Given the description of an element on the screen output the (x, y) to click on. 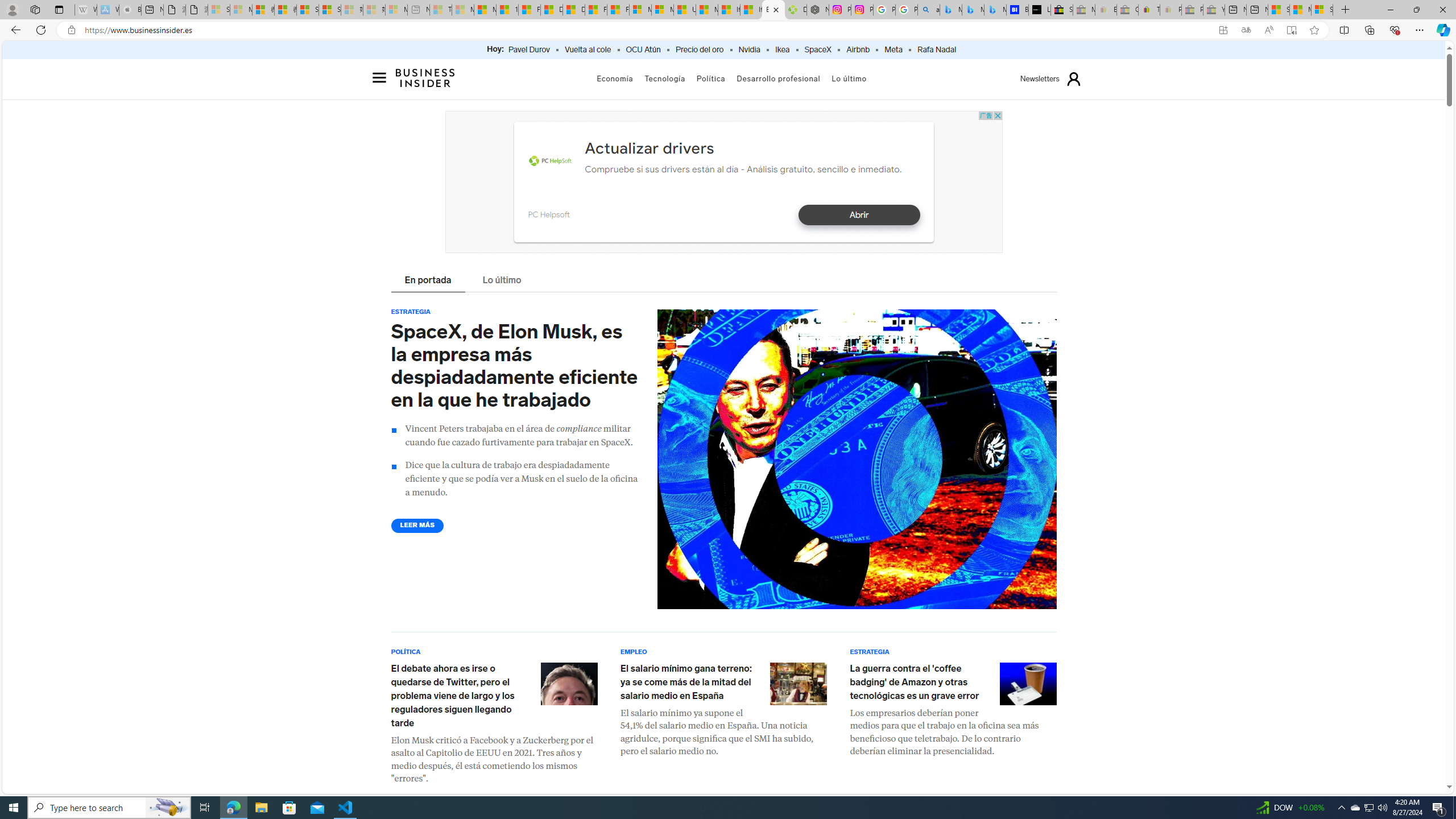
Airbnb (857, 49)
En portada (427, 281)
Precio del oro (699, 49)
Newsletters (1039, 78)
Sign in to your Microsoft account - Sleeping (218, 9)
Press Room - eBay Inc. - Sleeping (1192, 9)
Pavel Durov (529, 49)
Ikea (782, 49)
